Given the description of an element on the screen output the (x, y) to click on. 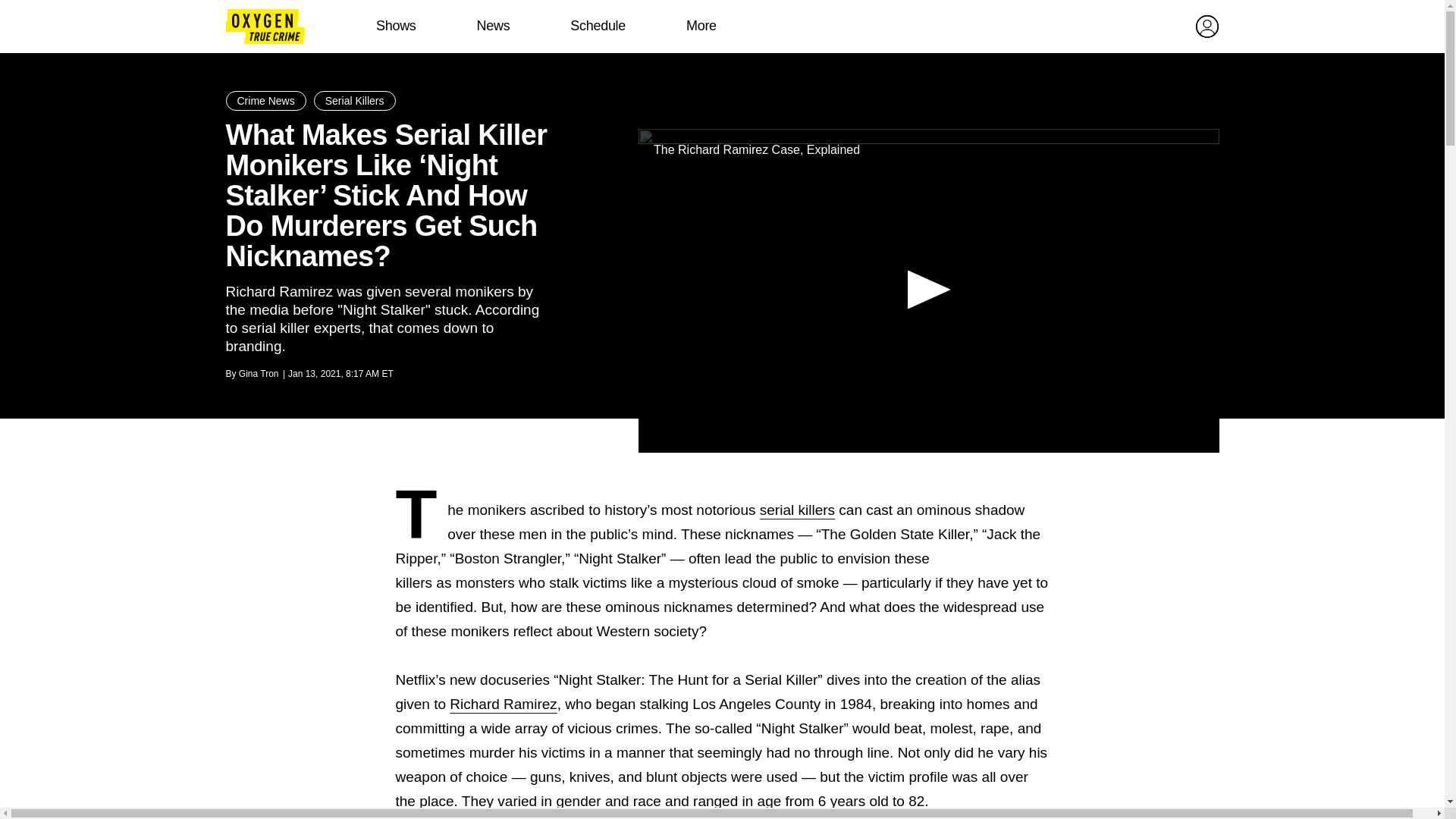
Shows (395, 26)
Gina Tron (258, 373)
Schedule (598, 26)
Richard Ramirez (502, 703)
serial killers (797, 509)
Serial Killers (355, 100)
More (700, 26)
Crime News (265, 100)
News (492, 26)
